Given the description of an element on the screen output the (x, y) to click on. 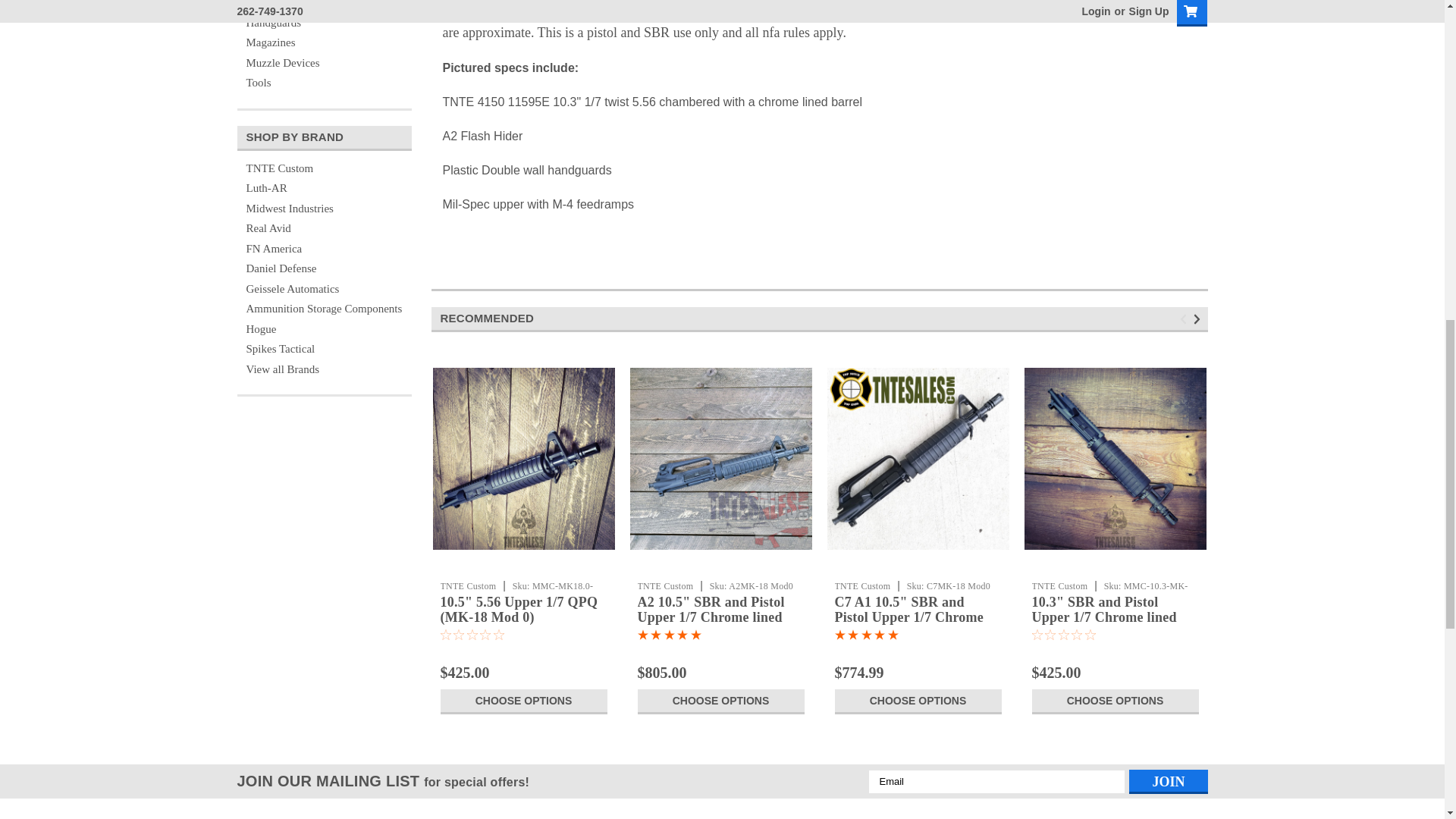
Join (1168, 781)
